Given the description of an element on the screen output the (x, y) to click on. 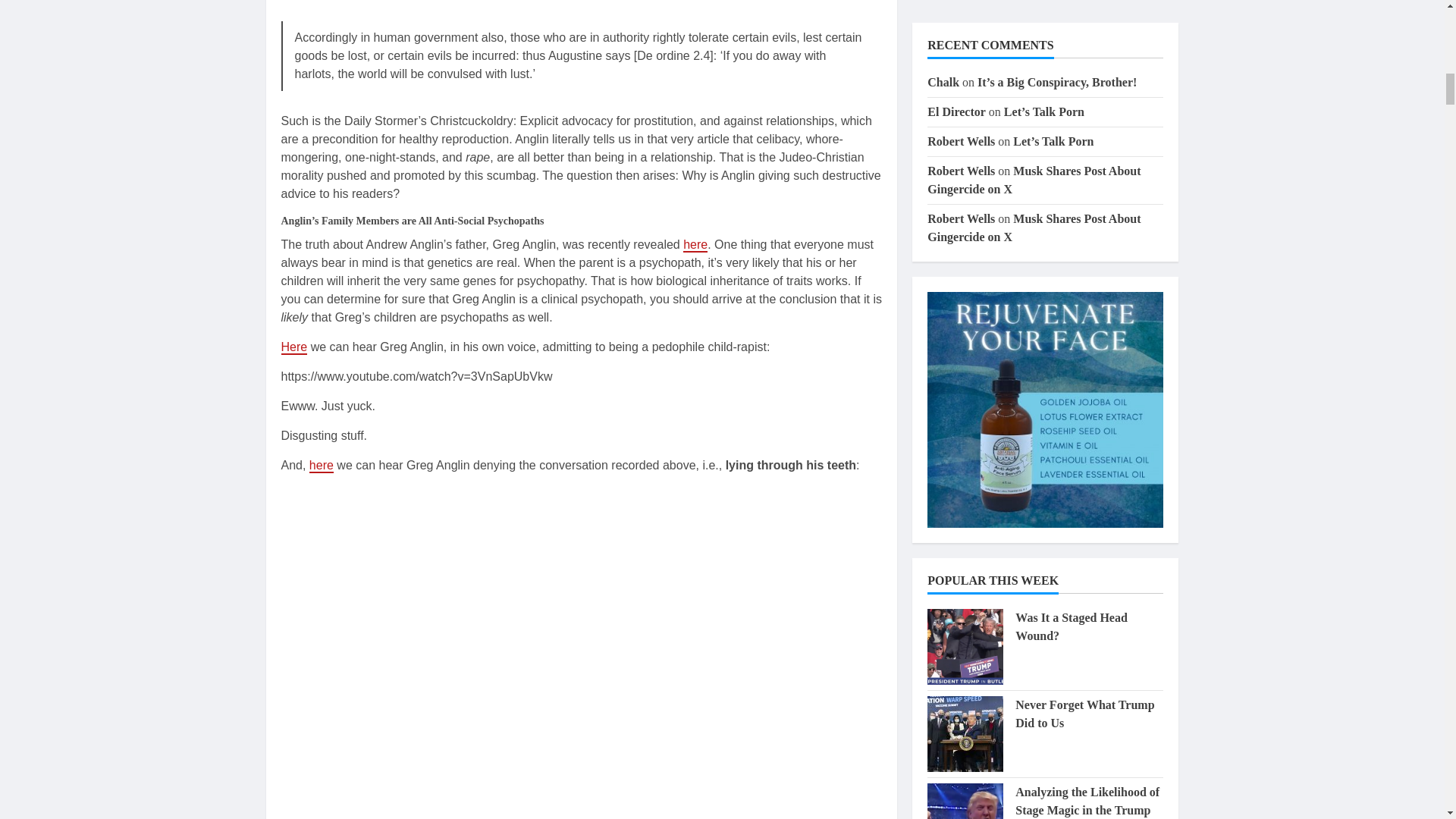
Here (294, 347)
here (320, 465)
here (694, 245)
